Given the description of an element on the screen output the (x, y) to click on. 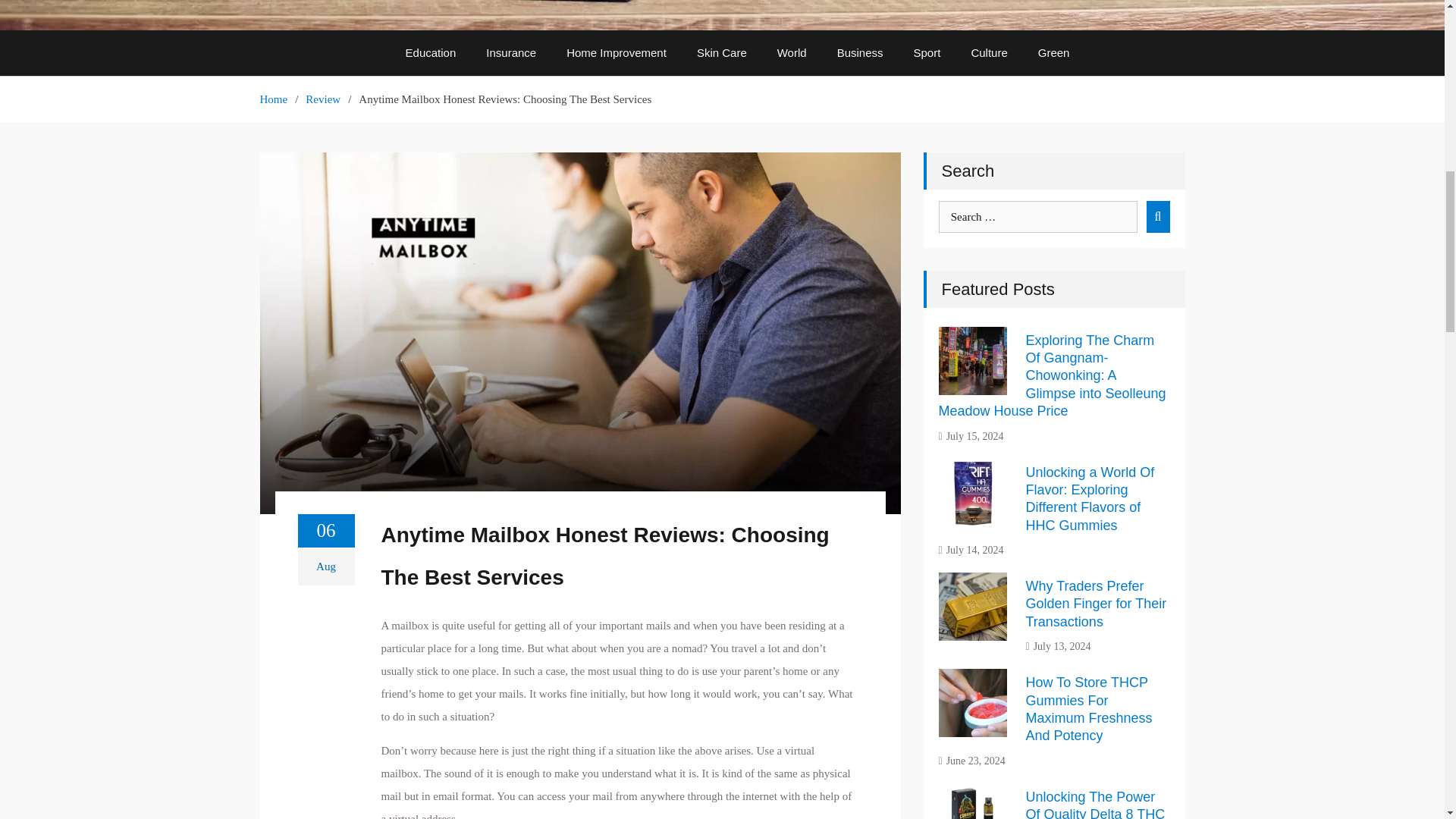
Insurance (510, 53)
Home Improvement (616, 53)
Culture (988, 53)
Skin Care (721, 53)
How To Store THCP Gummies For Maximum Freshness And Potency (1088, 708)
Green (1053, 53)
Sport (927, 53)
World (791, 53)
Why Traders Prefer Golden Finger for Their Transactions (1095, 603)
Education (430, 53)
Business (860, 53)
Home (272, 99)
